Given the description of an element on the screen output the (x, y) to click on. 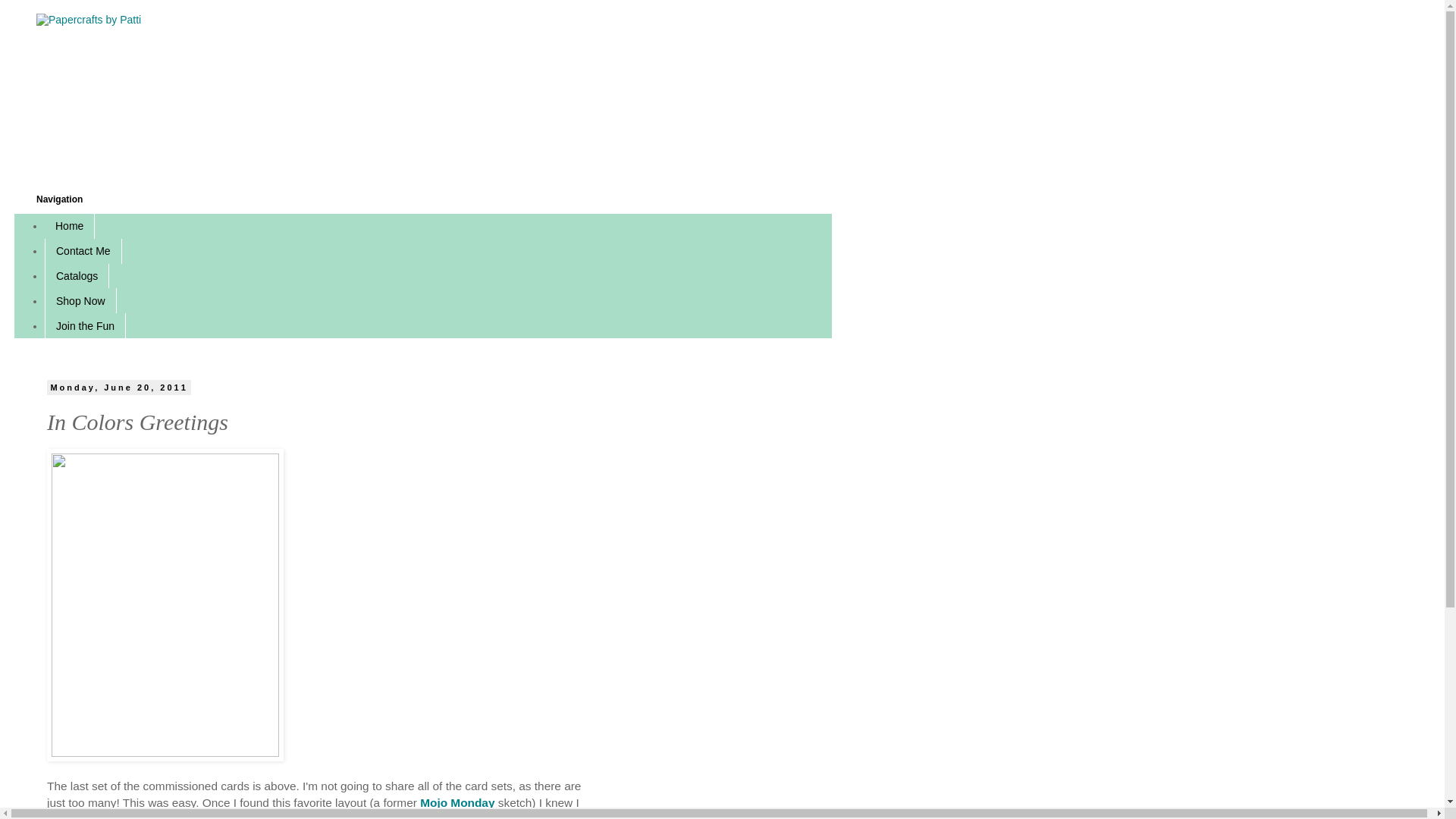
Contact Me (83, 251)
Join the Fun (85, 325)
Mojo Monday (457, 802)
Shop Now (80, 300)
Catalogs (77, 276)
Home (69, 226)
